Given the description of an element on the screen output the (x, y) to click on. 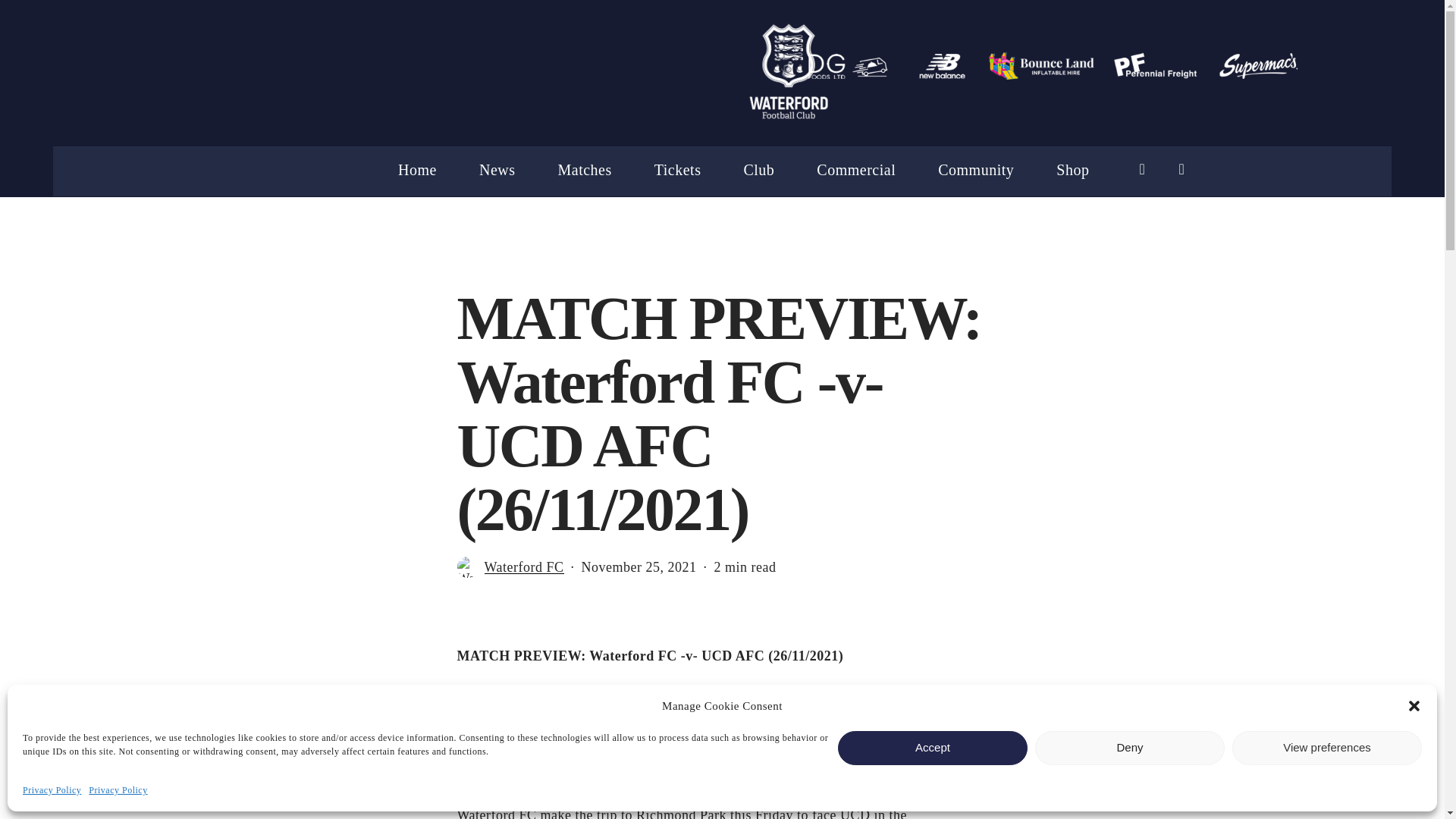
Tickets (677, 169)
Home (416, 169)
Posts by Waterford FC (523, 567)
Shop (1073, 169)
Matches (584, 169)
Waterford FC (523, 572)
News (497, 169)
account (1181, 169)
Community (975, 169)
Commercial (855, 169)
search (1141, 169)
Club (758, 169)
